Given the description of an element on the screen output the (x, y) to click on. 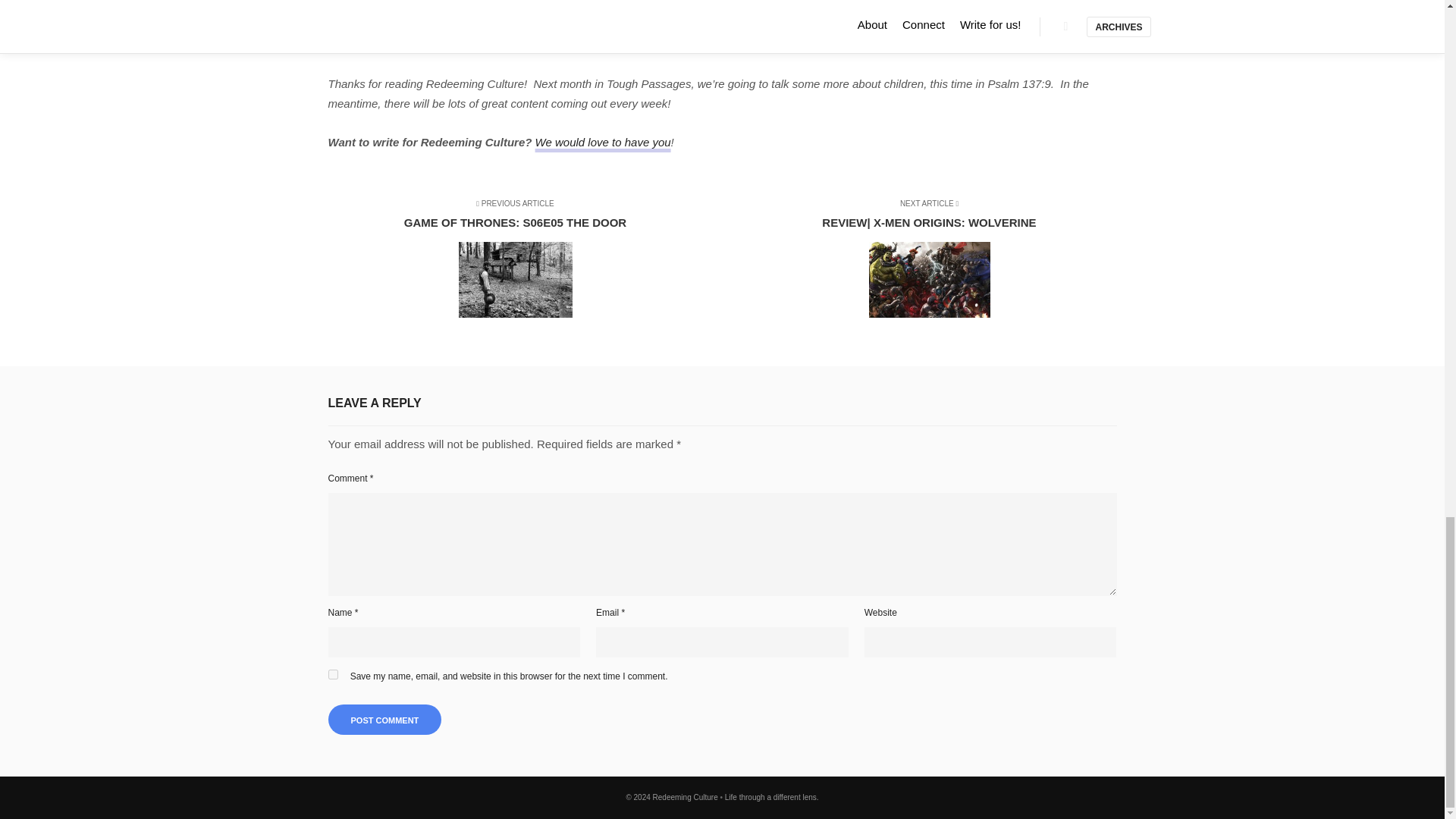
Post Comment (384, 719)
yes (332, 674)
We would love to have you (524, 260)
Post Comment (603, 141)
